Given the description of an element on the screen output the (x, y) to click on. 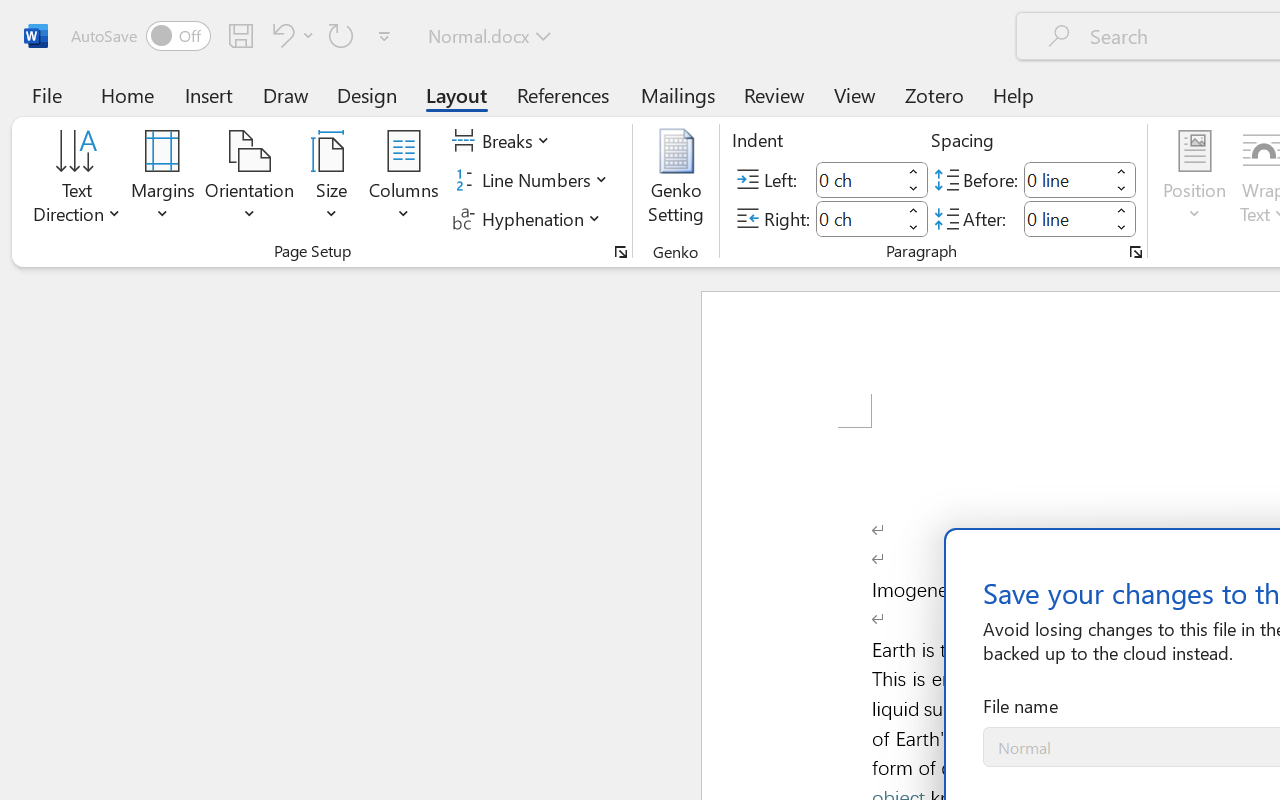
Undo Paste Destination Formatting (290, 35)
Margins (163, 179)
Text Direction (77, 179)
Indent Left (858, 179)
Orientation (250, 179)
Line Numbers (532, 179)
